Given the description of an element on the screen output the (x, y) to click on. 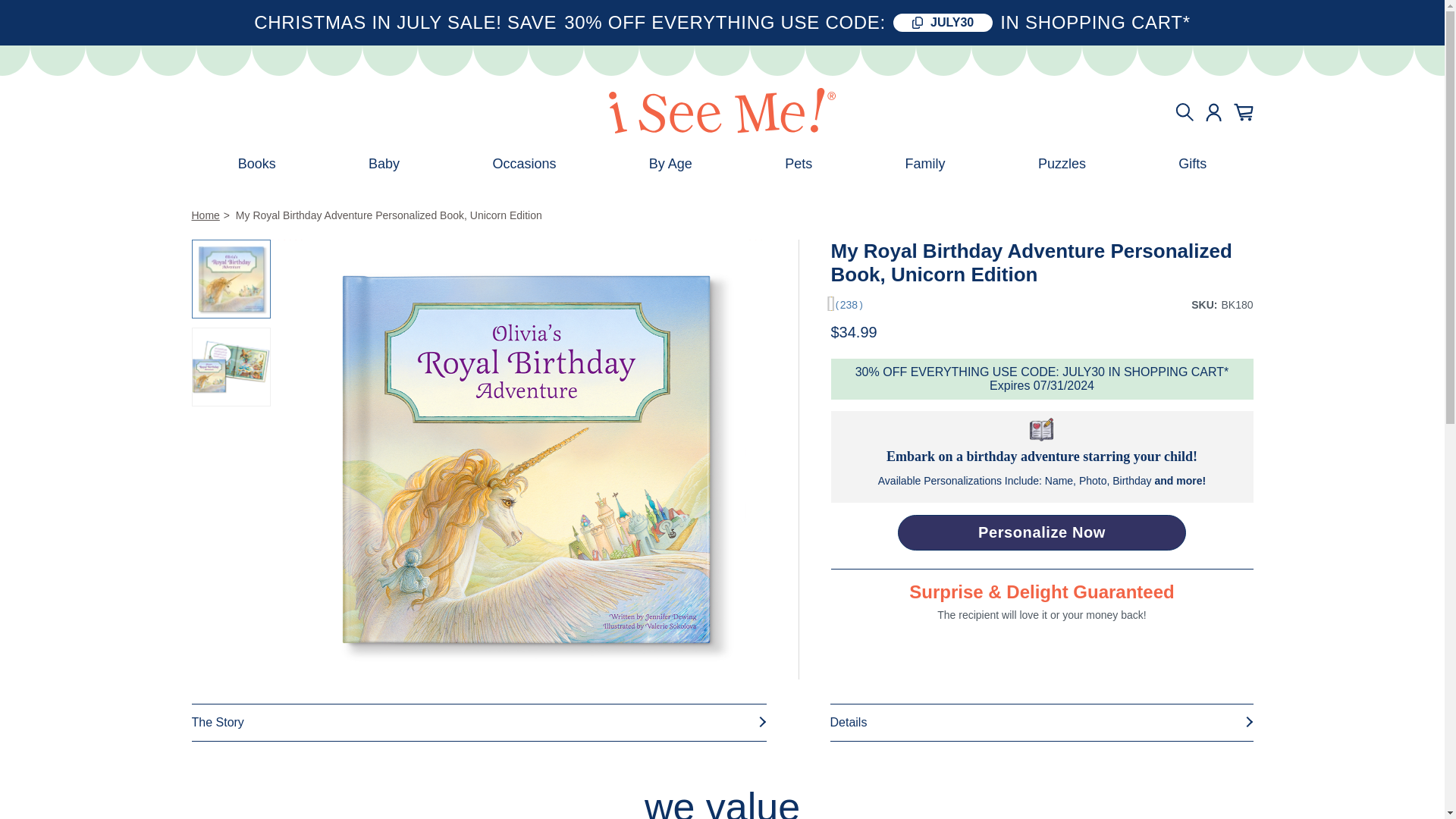
Go to Home Page (204, 215)
I See Me! (721, 111)
Baby (383, 163)
JULY30 (942, 22)
I See Me! (721, 110)
Books (255, 163)
